Given the description of an element on the screen output the (x, y) to click on. 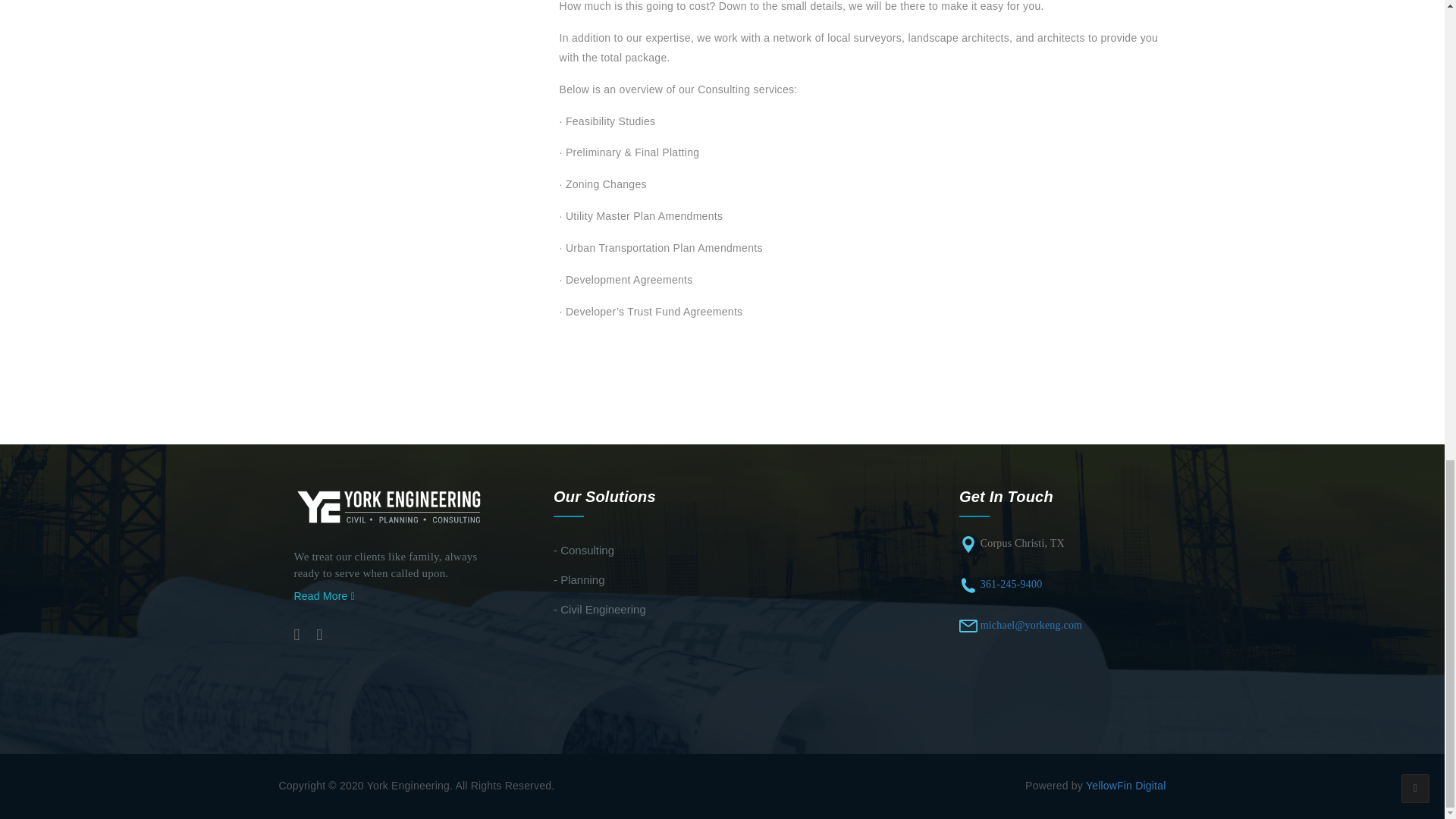
York Engineering (390, 506)
361-245-9400 (1010, 584)
- Civil Engineering (599, 608)
- Planning (579, 579)
- Consulting (583, 549)
YellowFin Digital (1126, 785)
Read More (324, 595)
